Given the description of an element on the screen output the (x, y) to click on. 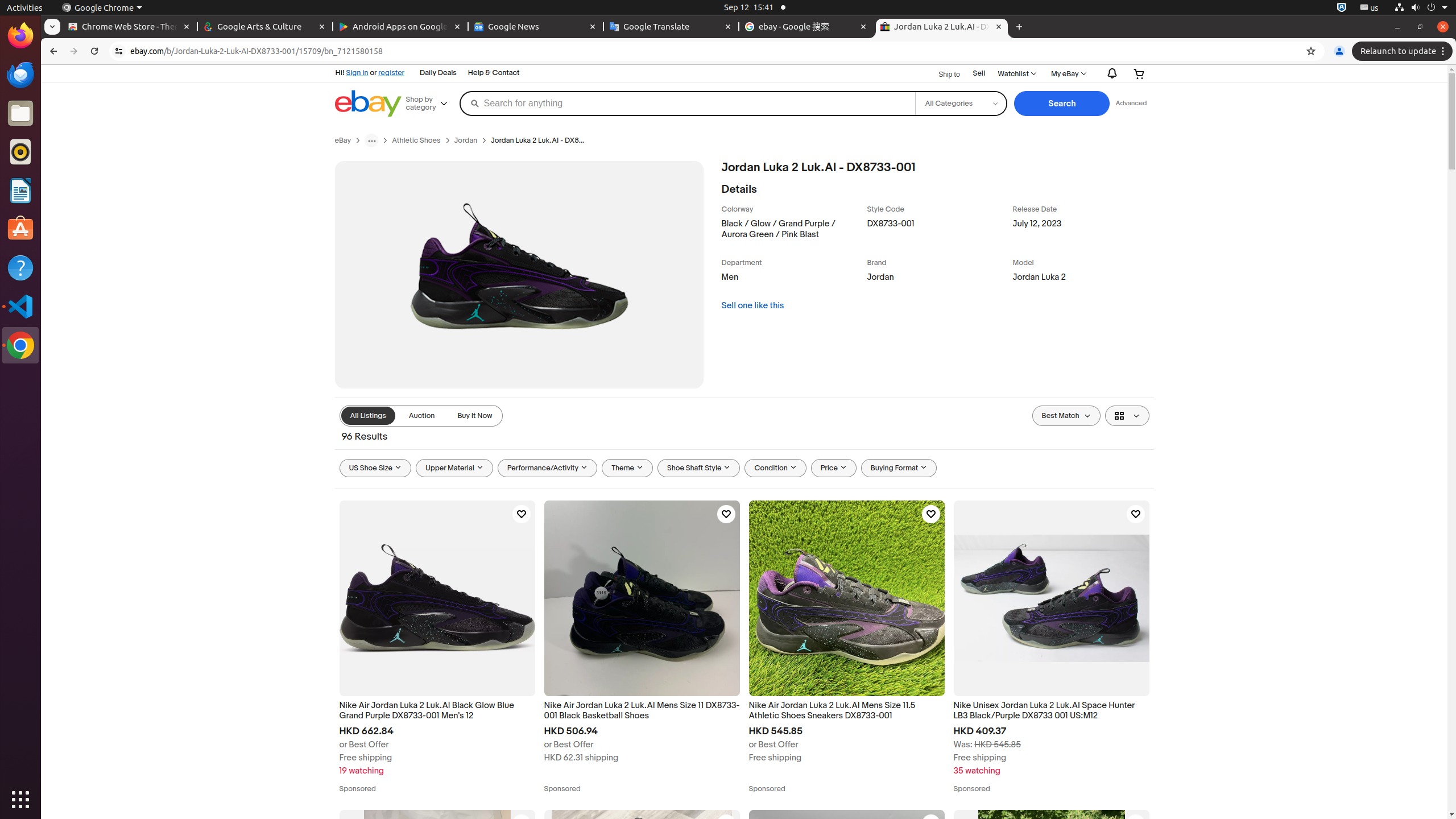
Jordan Luka 2 Luk.AI - DX8733-001 | eBay Element type: page-tab (941, 26)
Android Apps on Google Play - Memory usage - 60.7 MB Element type: page-tab (400, 26)
Relaunch to update Element type: push-button (1403, 50)
Google Chrome Element type: push-button (20, 344)
Back Element type: push-button (51, 50)
